Given the description of an element on the screen output the (x, y) to click on. 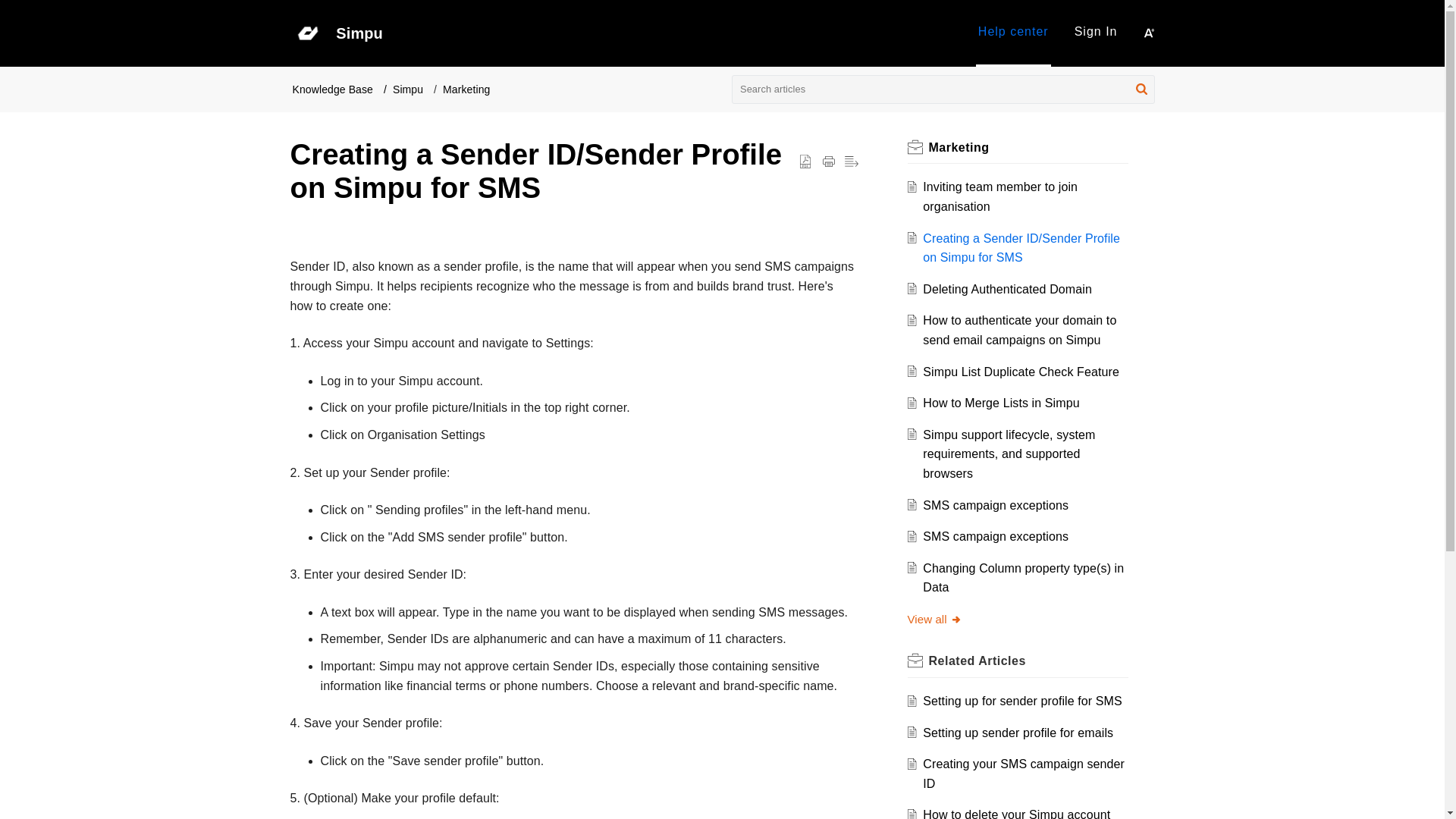
Inviting team member to join organisation (1000, 196)
Help center (1013, 33)
Marketing (958, 146)
Simpu (650, 33)
SMS campaign exceptions (995, 535)
Simpu (408, 89)
Help center (1013, 31)
Marketing (465, 89)
Simpu List Duplicate Check Feature (1021, 371)
Creating your SMS campaign sender ID (1023, 773)
How to Merge Lists in Simpu (1000, 402)
Simpu List Duplicate Check Feature (1021, 371)
SMS campaign exceptions (995, 504)
